Given the description of an element on the screen output the (x, y) to click on. 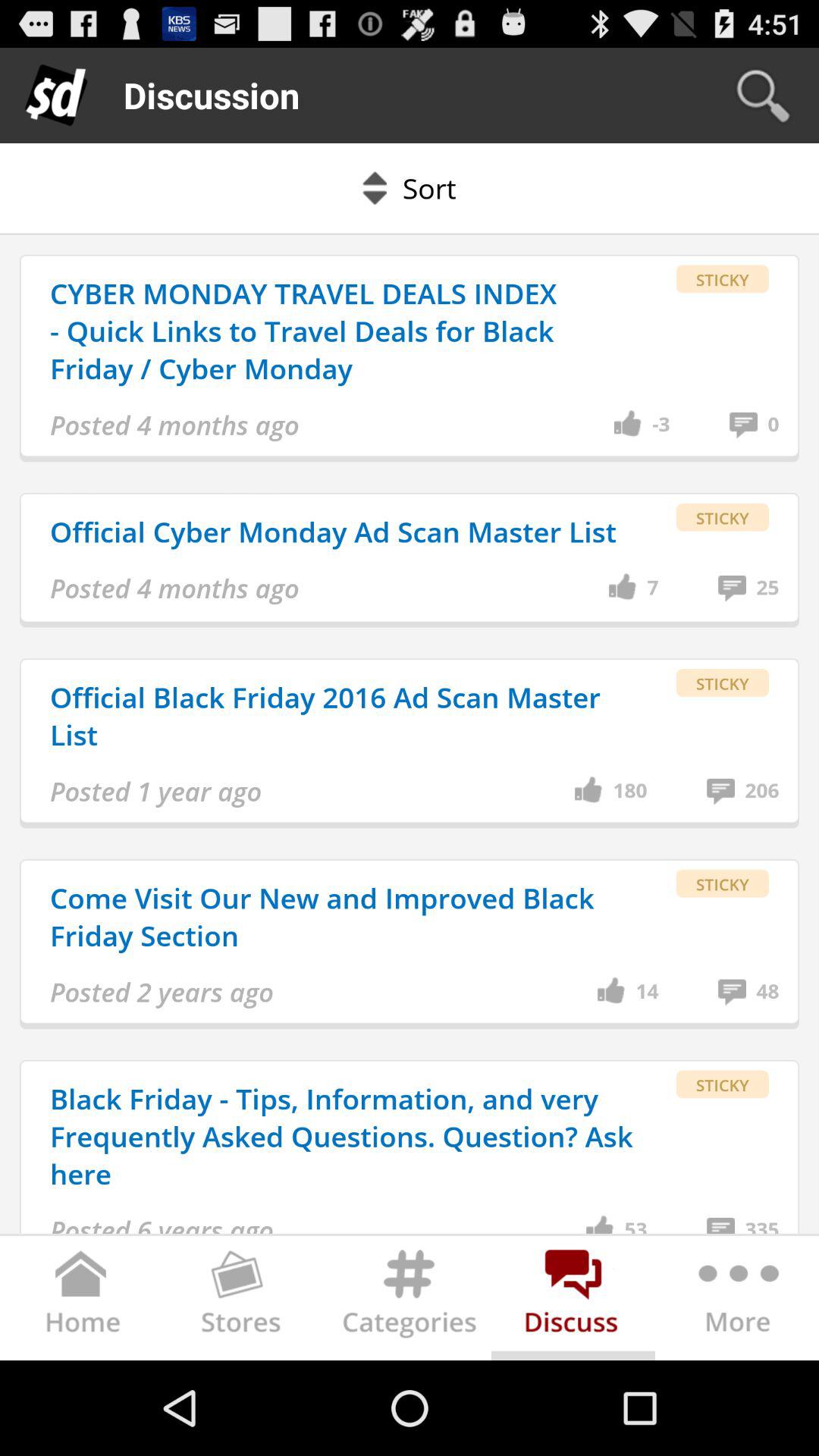
press the 206 (762, 791)
